Given the description of an element on the screen output the (x, y) to click on. 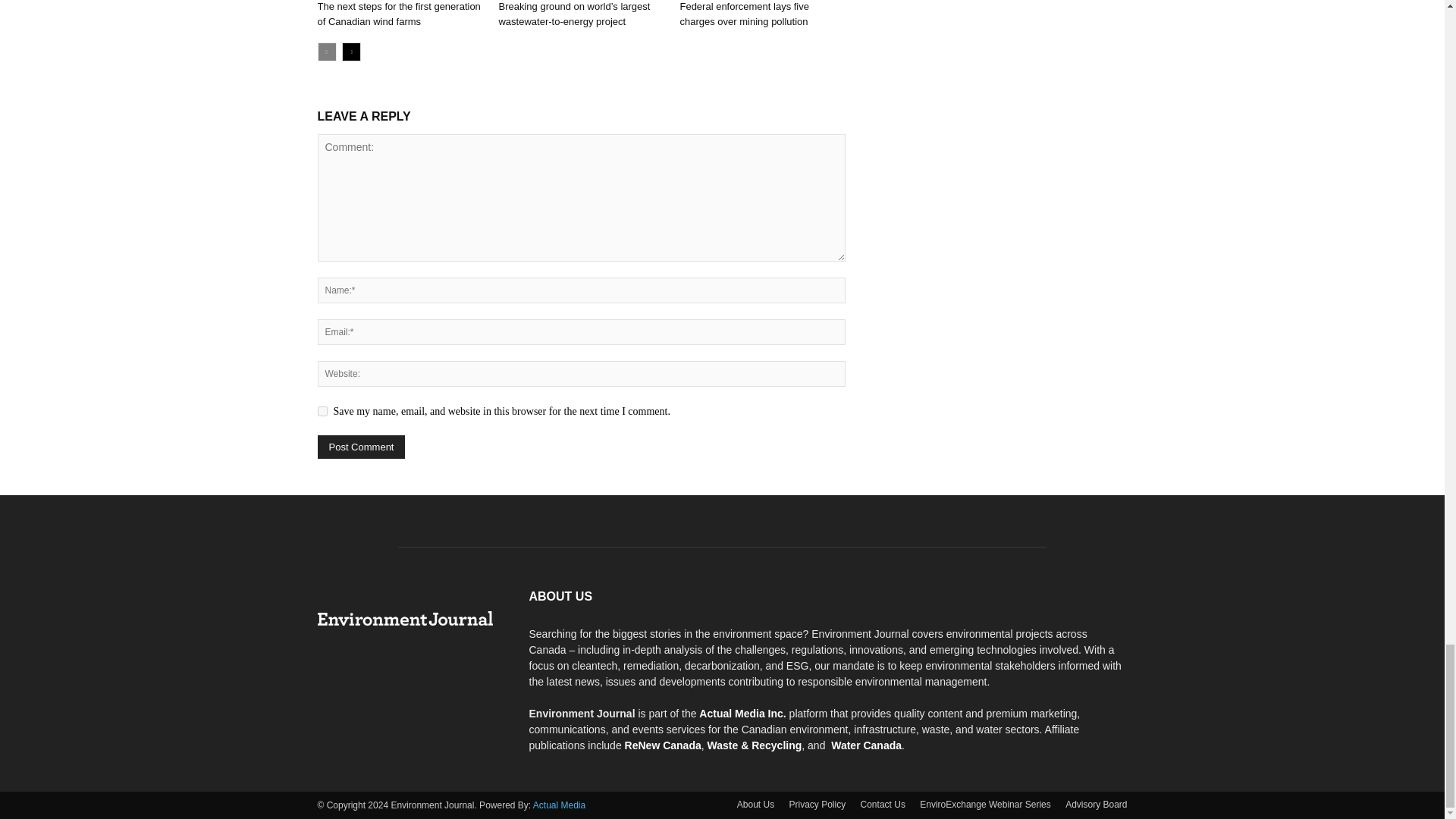
yes (321, 411)
Post Comment (360, 446)
